Given the description of an element on the screen output the (x, y) to click on. 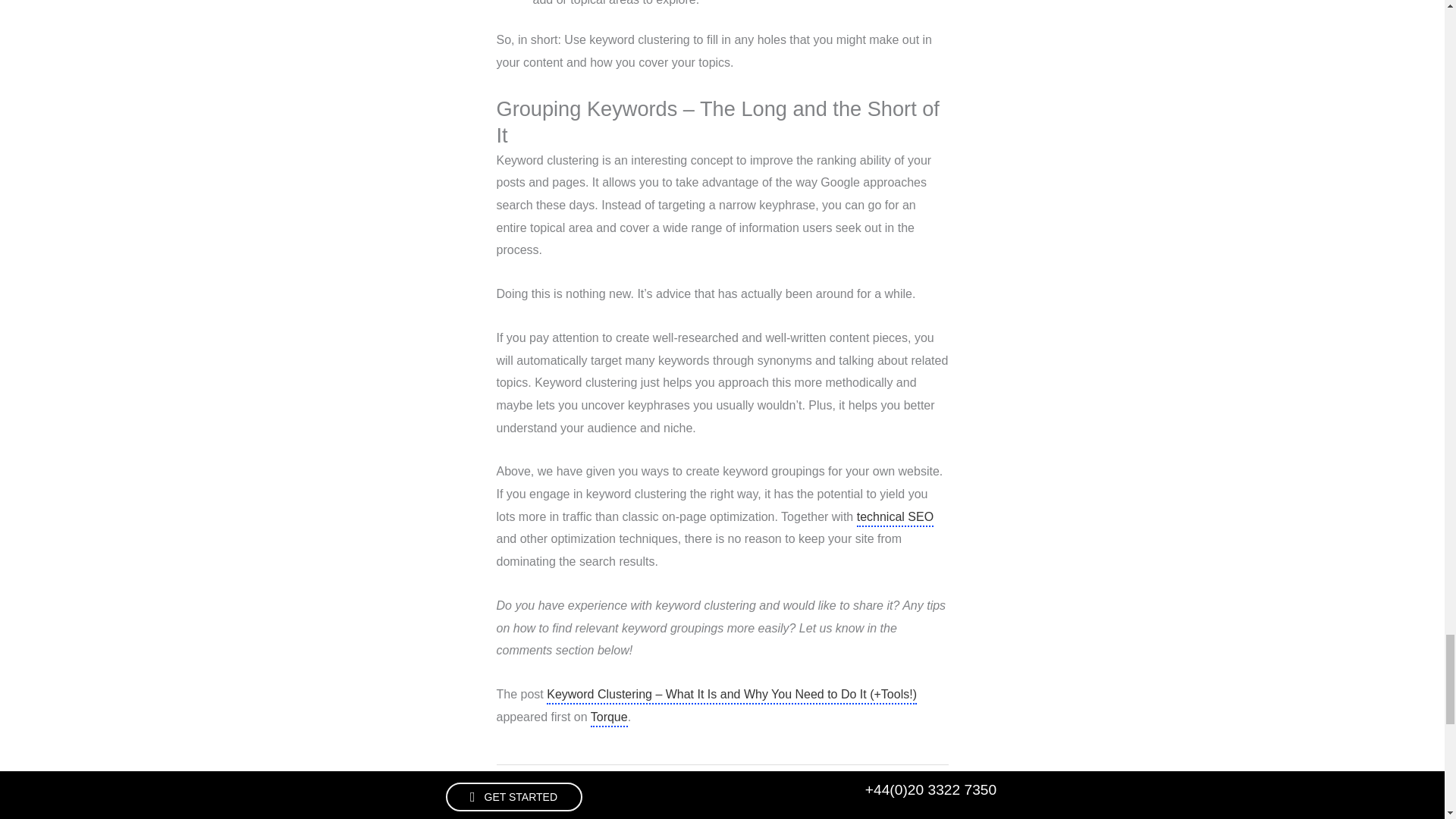
technical SEO (895, 518)
Torque (609, 718)
